Given the description of an element on the screen output the (x, y) to click on. 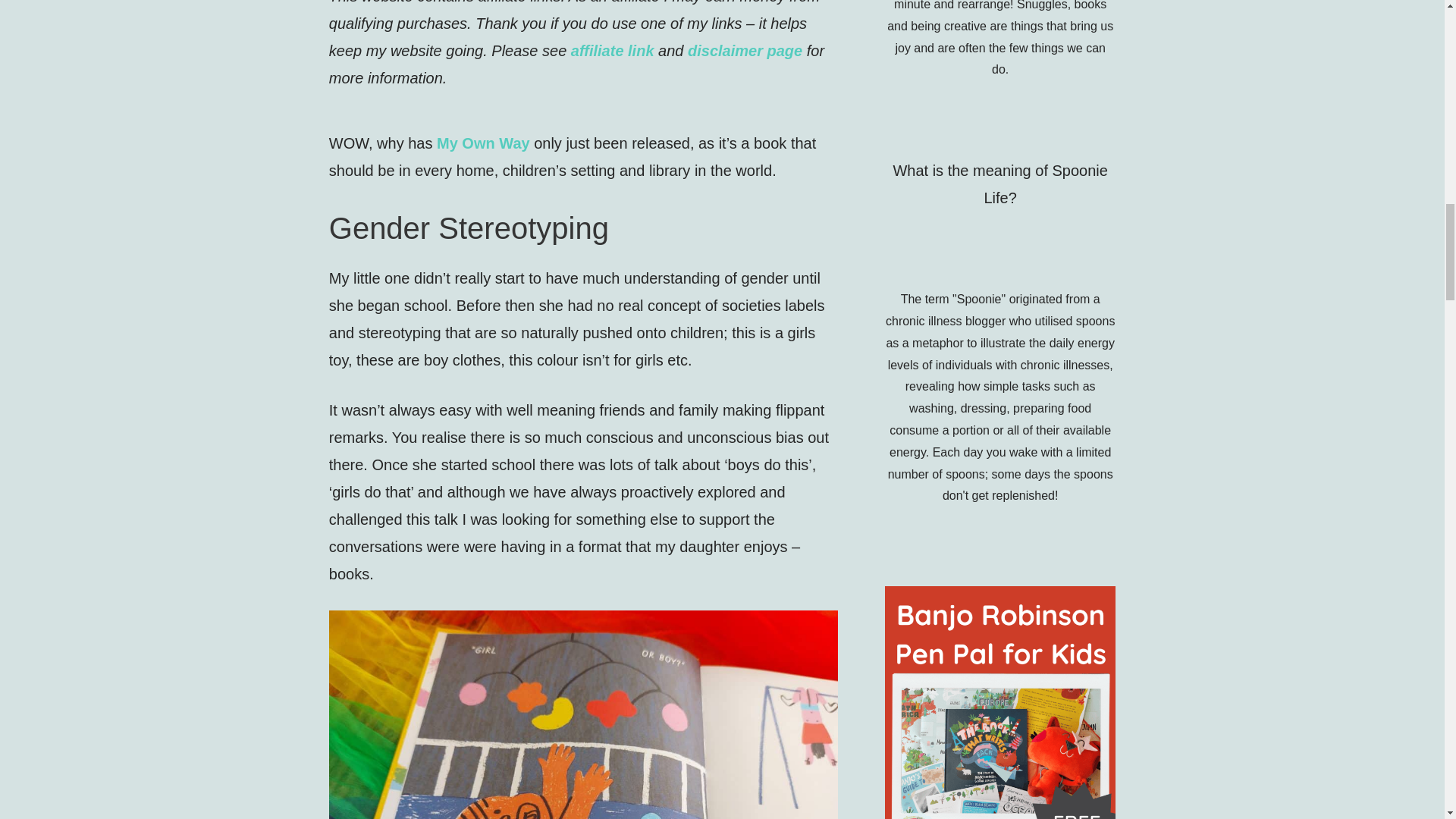
disclaimer page (744, 50)
affiliate link (611, 50)
My Own Way (482, 143)
